Given the description of an element on the screen output the (x, y) to click on. 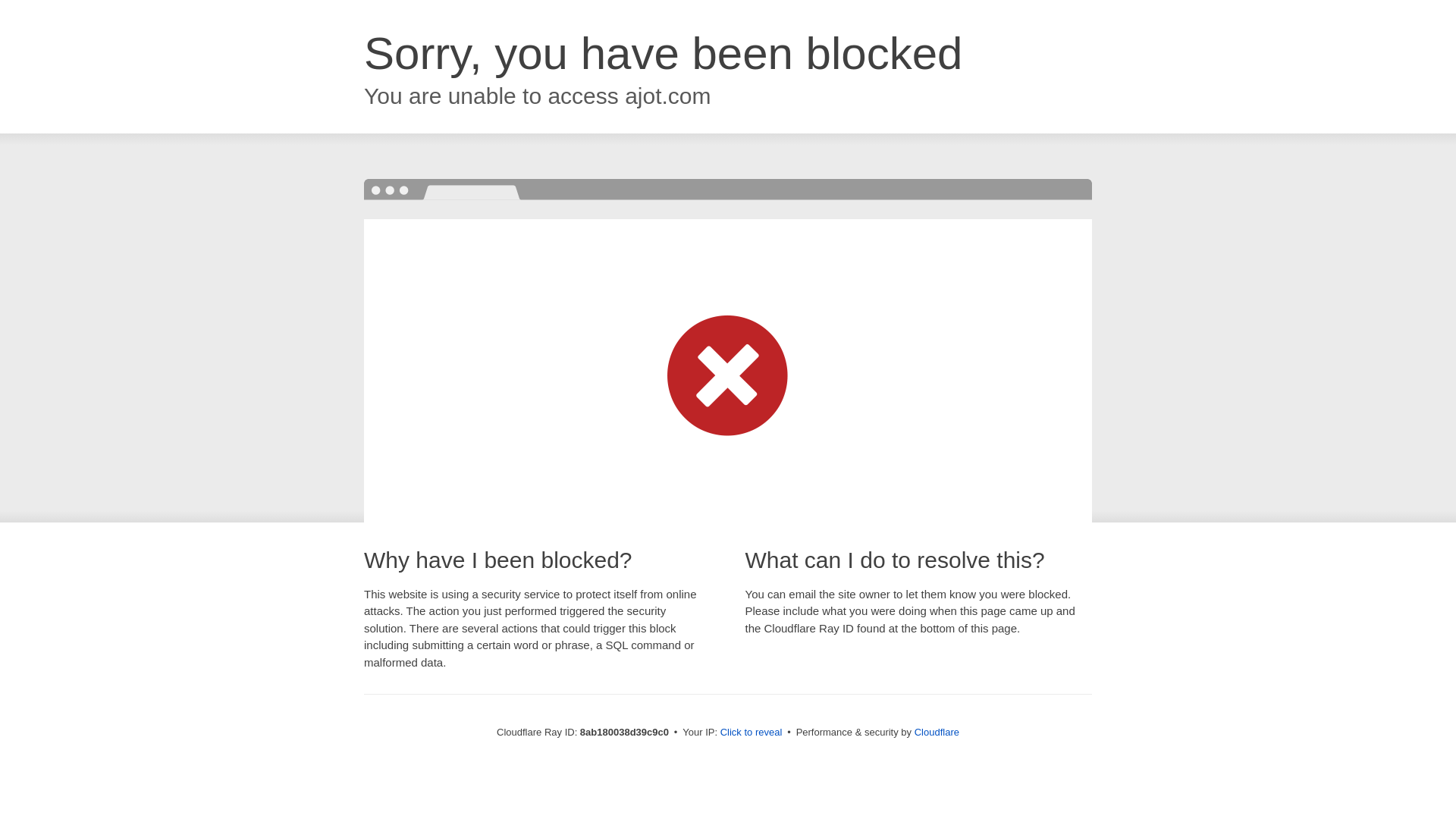
Click to reveal (751, 732)
Cloudflare (936, 731)
